Given the description of an element on the screen output the (x, y) to click on. 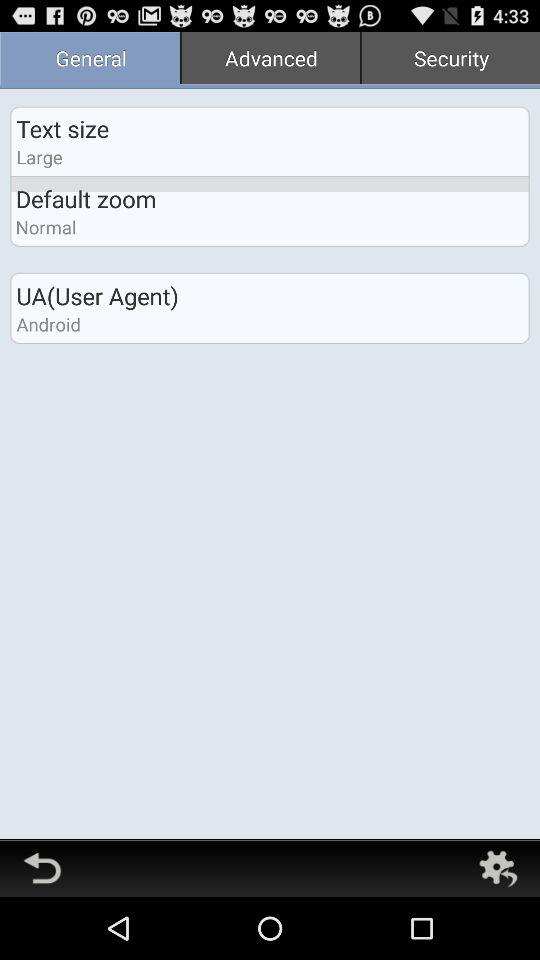
click the app below the ua(user agent) app (48, 323)
